Given the description of an element on the screen output the (x, y) to click on. 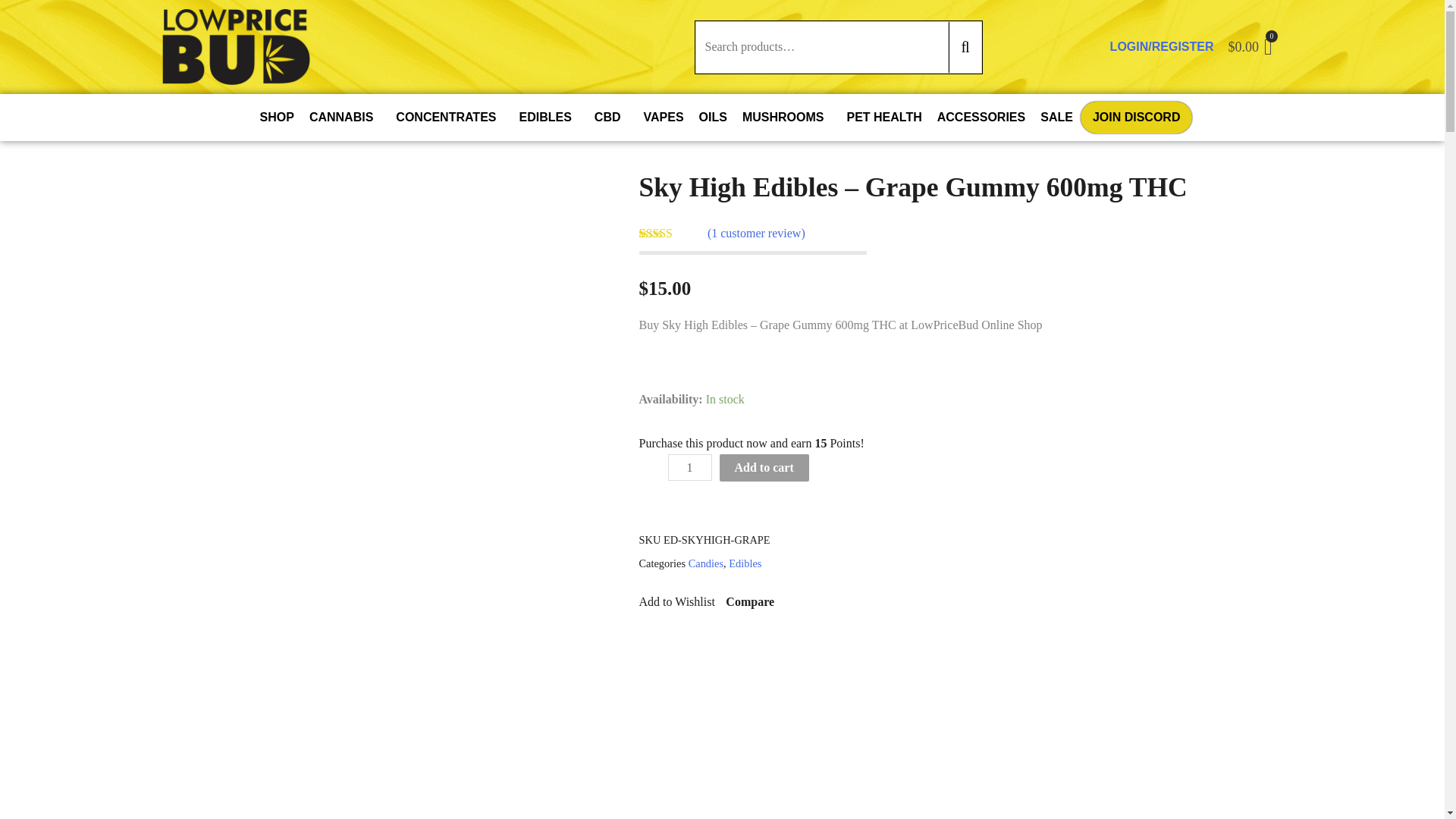
1 (688, 467)
CANNABIS (344, 117)
SHOP (276, 117)
EDIBLES (548, 117)
CONCENTRATES (449, 117)
